Given the description of an element on the screen output the (x, y) to click on. 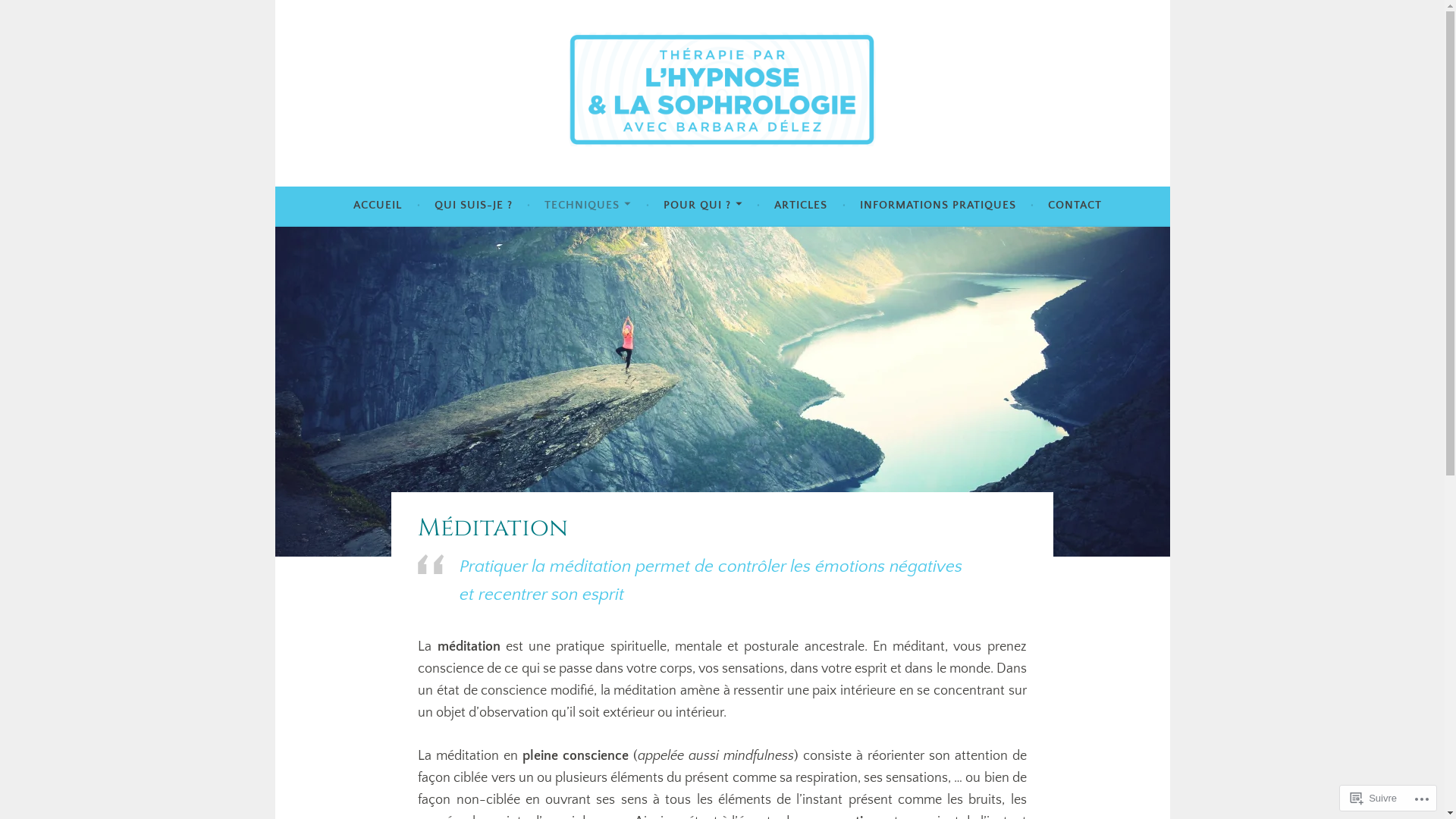
Suivre Element type: text (1373, 797)
ACCUEIL Element type: text (377, 205)
INFORMATIONS PRATIQUES Element type: text (937, 205)
QUI SUIS-JE ? Element type: text (473, 205)
ARTICLES Element type: text (800, 205)
TECHNIQUES Element type: text (587, 205)
CONTACT Element type: text (1074, 205)
POUR QUI ? Element type: text (702, 205)
